Given the description of an element on the screen output the (x, y) to click on. 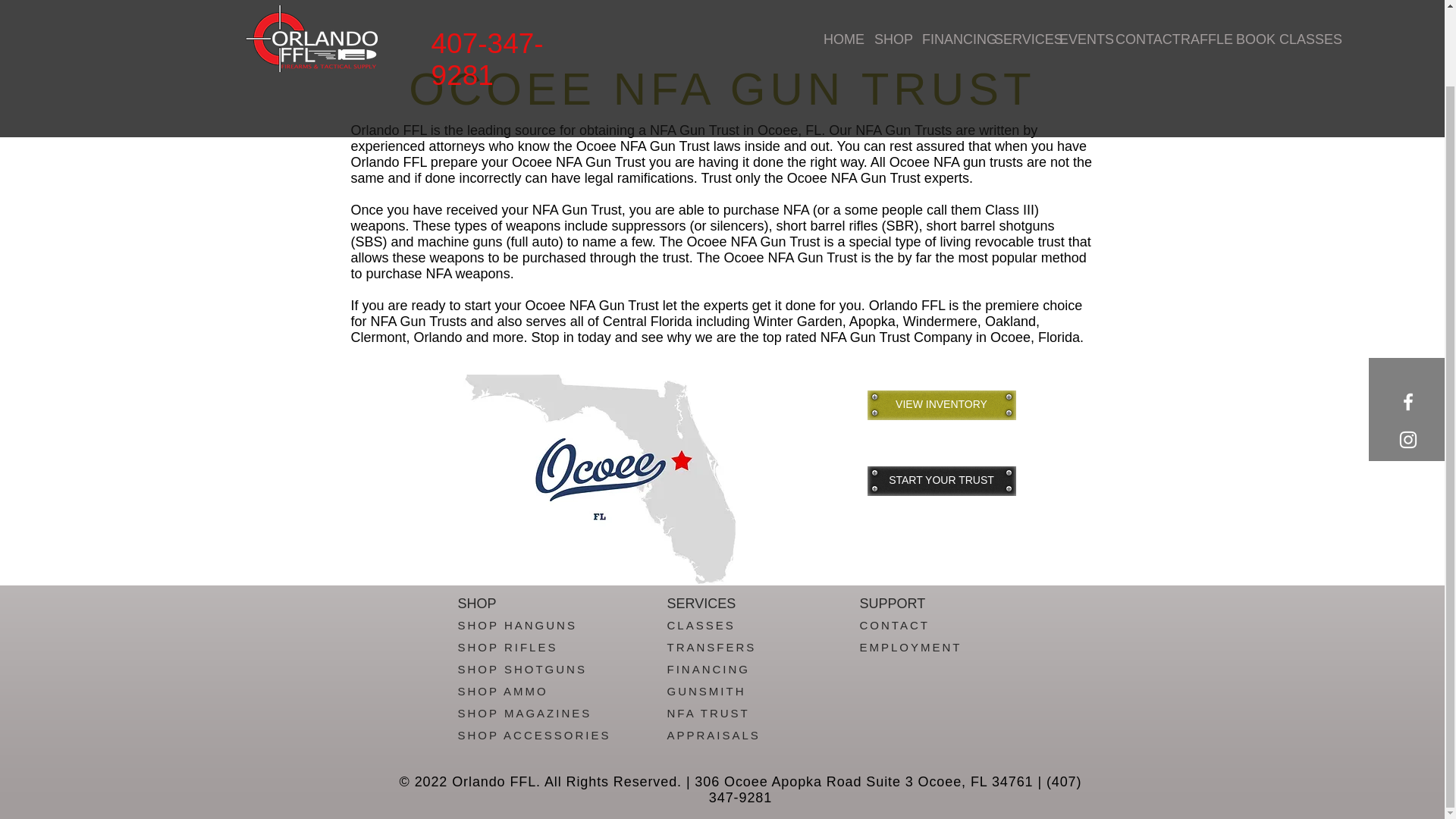
FINANCING (708, 668)
APPRAISALS (713, 735)
SHOP AMMO (503, 690)
GUNSMITH (705, 690)
CLASSES (700, 625)
SHOP RIFLES (507, 646)
SHOP ACCESSORIES (534, 735)
START YOUR TRUST (941, 481)
407-347-9281 (486, 2)
NFA TRUST (707, 712)
EMPLOYMENT (911, 646)
CONTACT (895, 625)
SHOP SHOTGUNS (522, 668)
VIEW INVENTORY (941, 404)
TRANSFERS (711, 646)
